Given the description of an element on the screen output the (x, y) to click on. 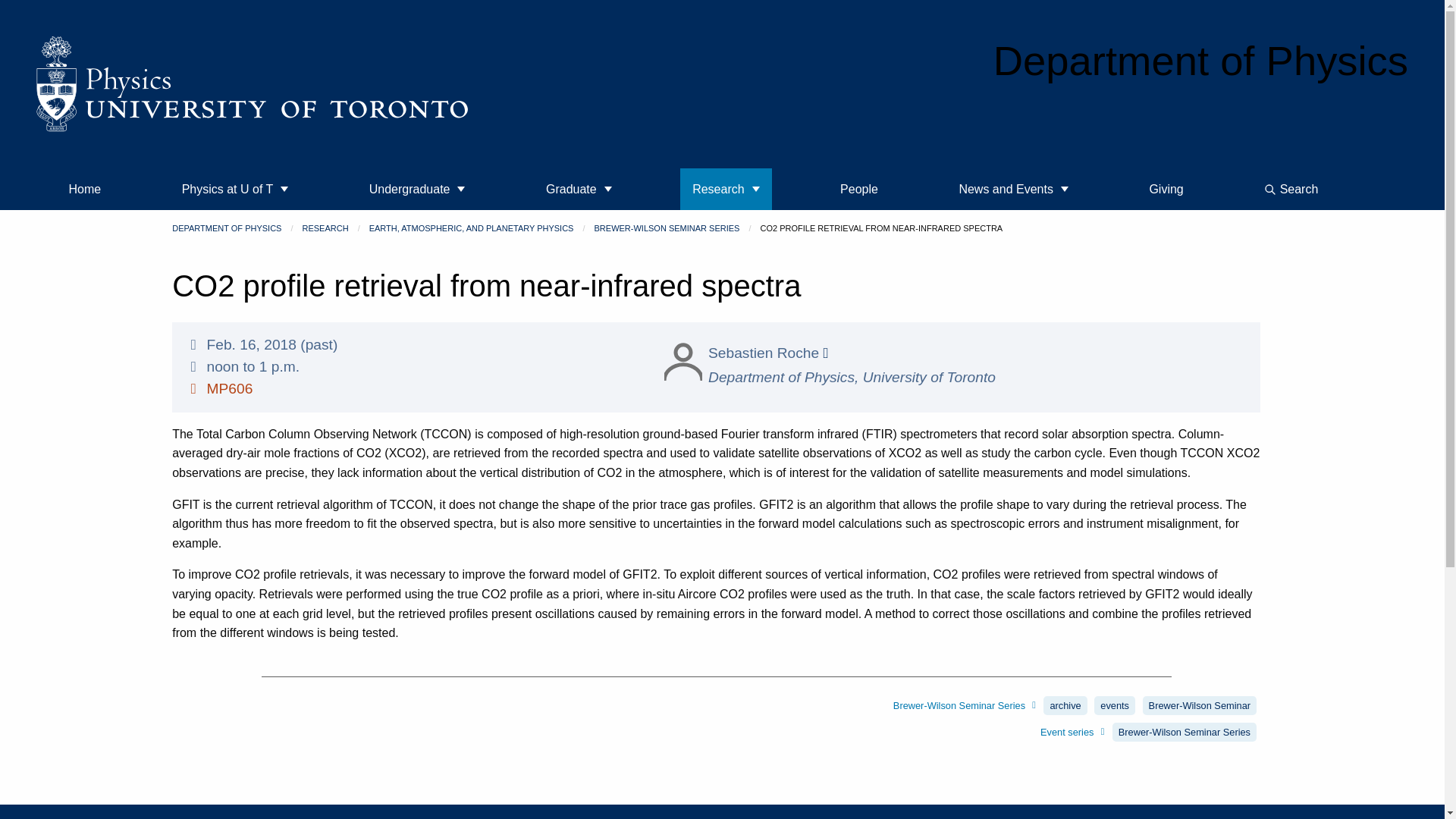
Home (84, 188)
Graduate (579, 188)
Undergraduate (416, 188)
Physics at U of T (235, 188)
